Given the description of an element on the screen output the (x, y) to click on. 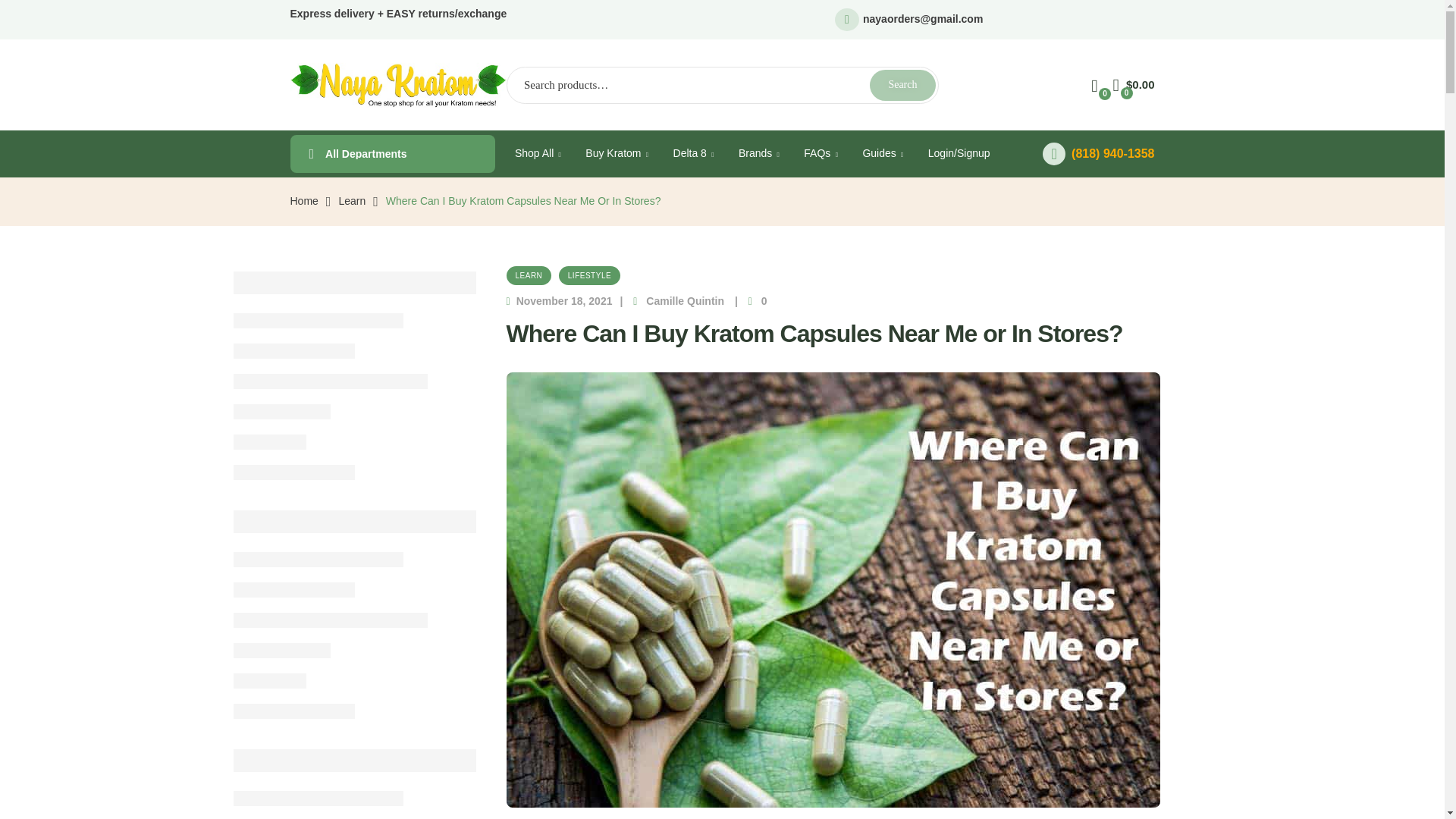
Search (901, 84)
Shop All (537, 153)
Buy Kratom (617, 153)
View your shopping cart (1133, 85)
